Given the description of an element on the screen output the (x, y) to click on. 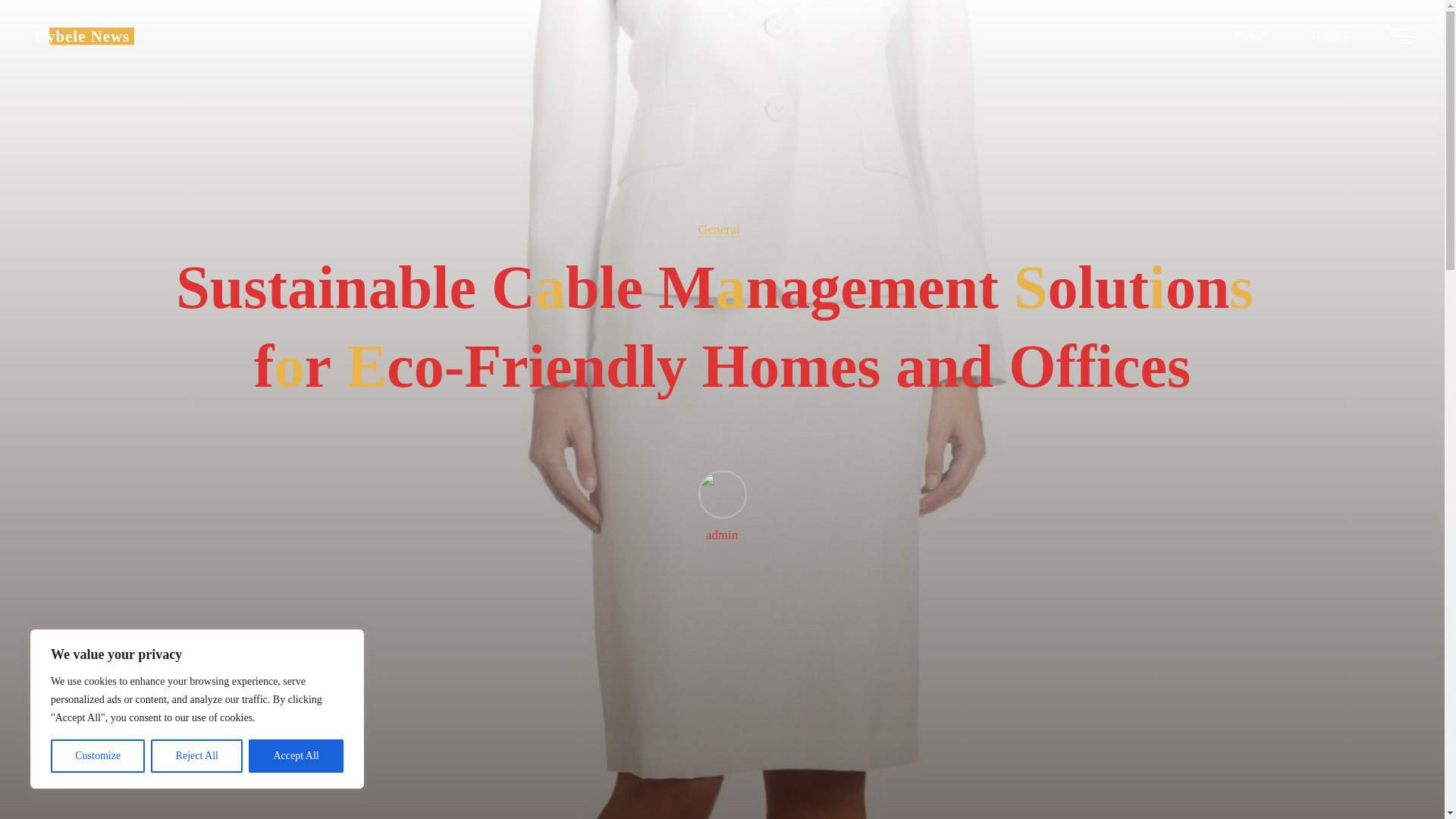
General (1330, 35)
Accept All (295, 756)
Blog (81, 36)
General (718, 229)
Reject All (197, 756)
Customize (97, 756)
Cybele News (81, 36)
Home (1248, 35)
Read more (721, 724)
